Given the description of an element on the screen output the (x, y) to click on. 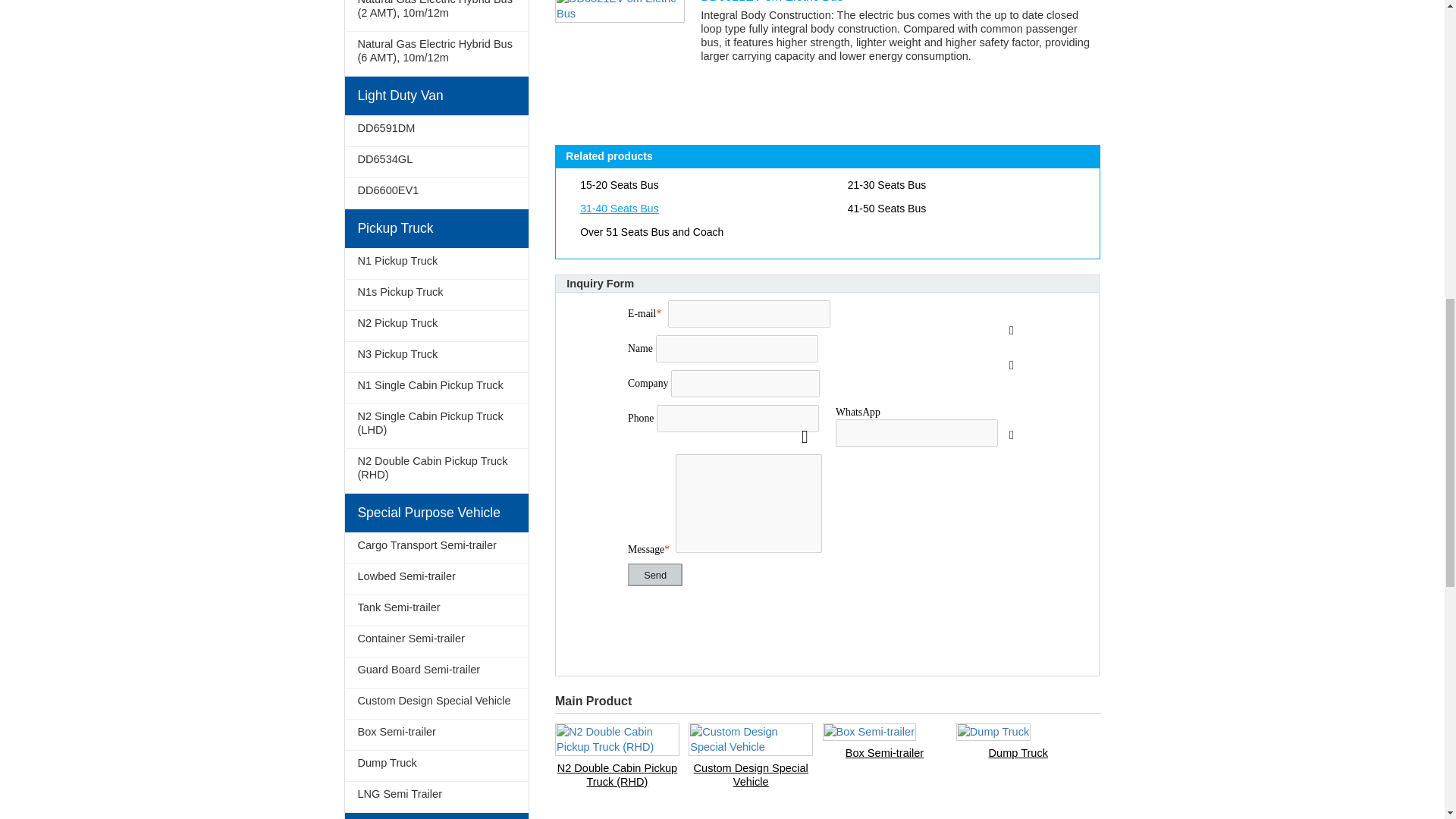
41-50 Seats Bus (962, 208)
Over 51 Seats Bus and Coach (694, 231)
21-30 Seats Bus (962, 184)
DD6821EV 8m Eletric Bus (619, 11)
Box Semi-trailer (884, 752)
15-20 Seats Bus (694, 184)
31-40 Seats Bus (694, 208)
Dump Truck (1018, 752)
Custom Design Special Vehicle (750, 775)
Light Duty Van (435, 95)
DD6821EV 8m Eletric Bus (897, 4)
